Given the description of an element on the screen output the (x, y) to click on. 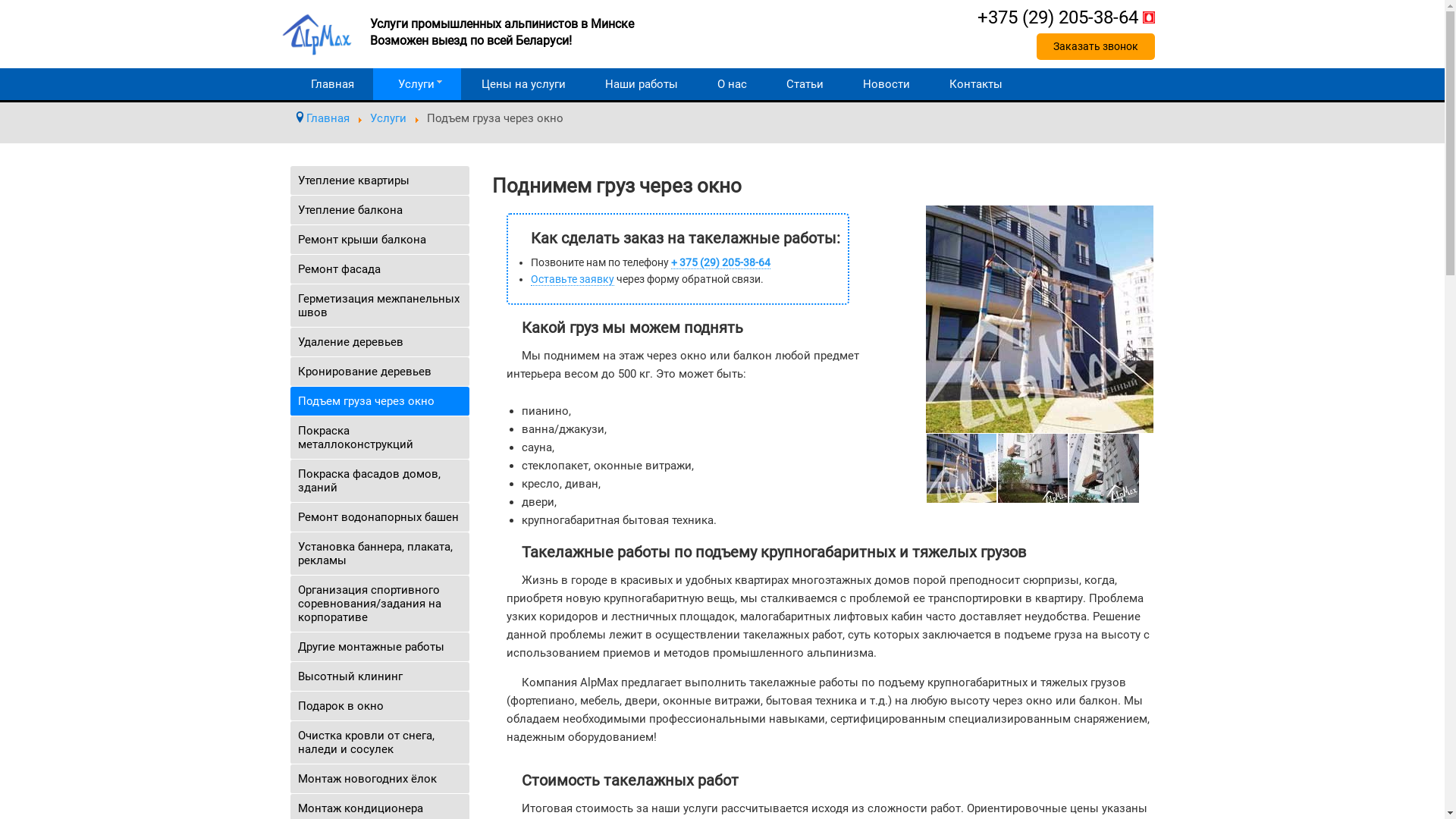
+ 375 (29) 205-38-64 Element type: text (719, 262)
+375 (29) 205-38-64 Element type: text (1065, 17)
